Given the description of an element on the screen output the (x, y) to click on. 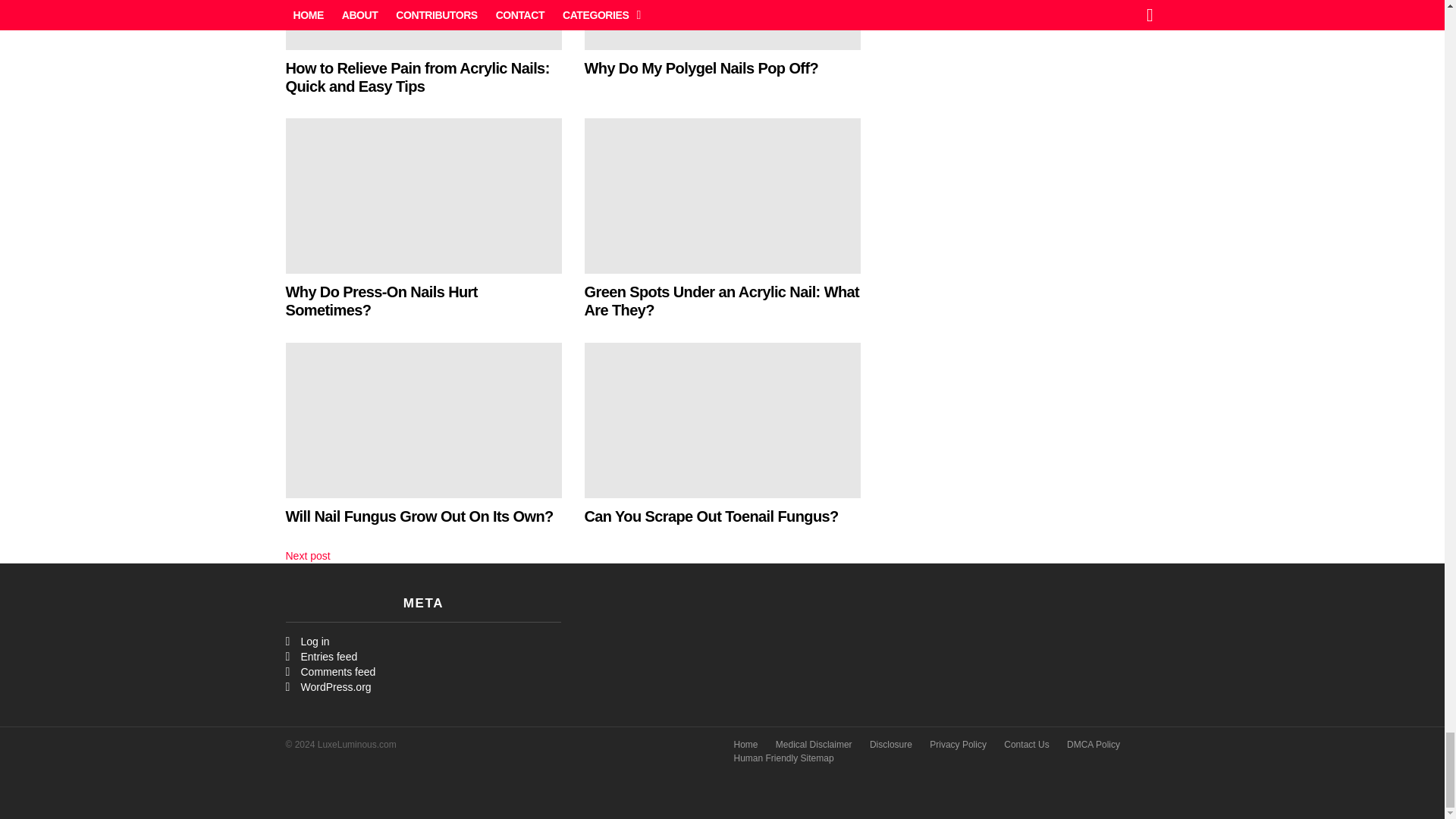
Why Do Press-On Nails Hurt Sometimes? (422, 195)
Can You Scrape Out Toenail Fungus? (721, 420)
Will Nail Fungus Grow Out On Its Own? (422, 420)
Green Spots Under an Acrylic Nail: What Are They? (721, 195)
Why Do My Polygel Nails Pop Off? (721, 24)
How to Relieve Pain from Acrylic Nails: Quick and Easy Tips (422, 24)
